Given the description of an element on the screen output the (x, y) to click on. 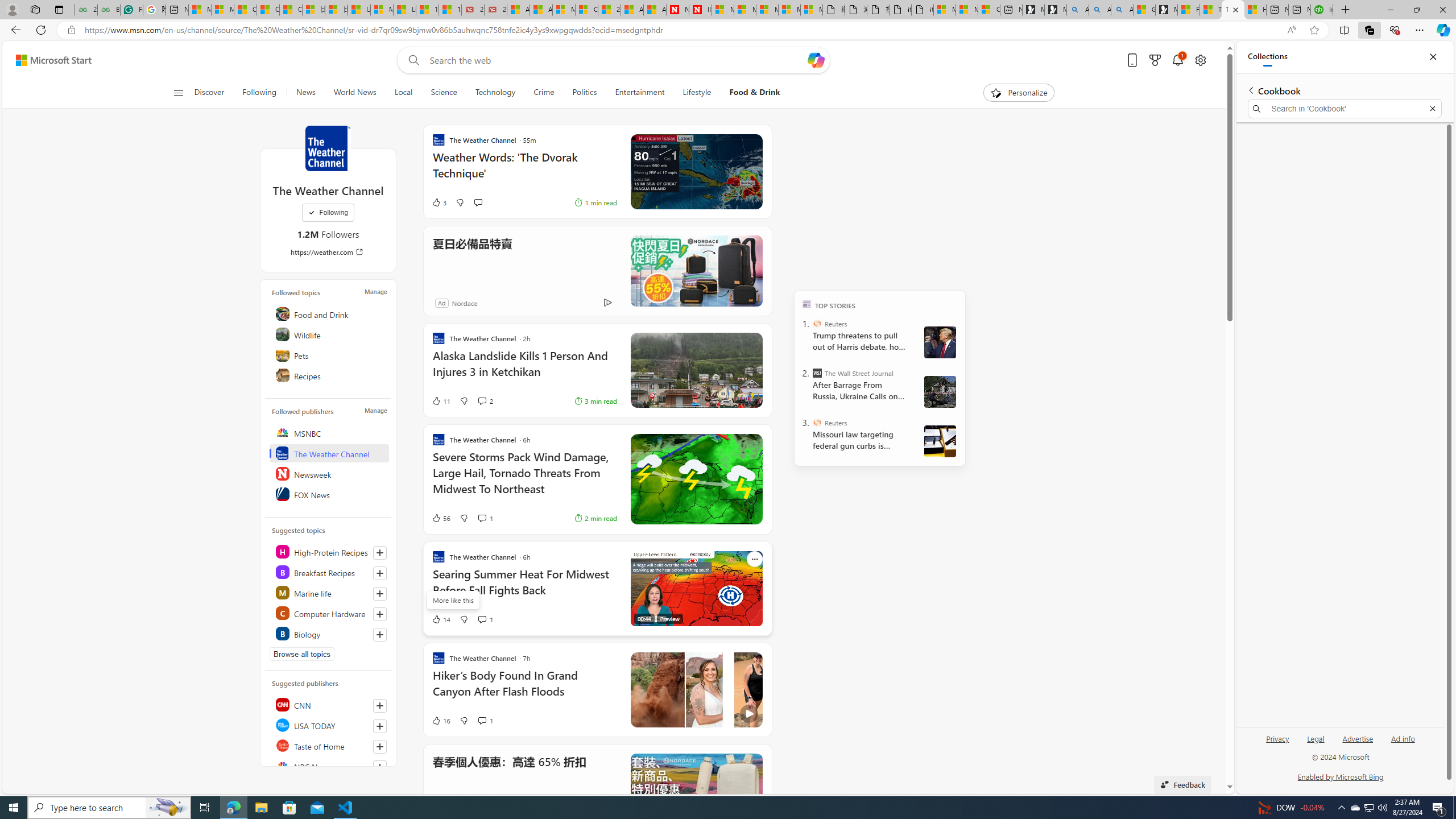
Alabama high school quarterback dies - Search (1077, 9)
Weather Words: 'The Dvorak Technique' (524, 171)
Alabama high school quarterback dies - Search Videos (1122, 9)
